Given the description of an element on the screen output the (x, y) to click on. 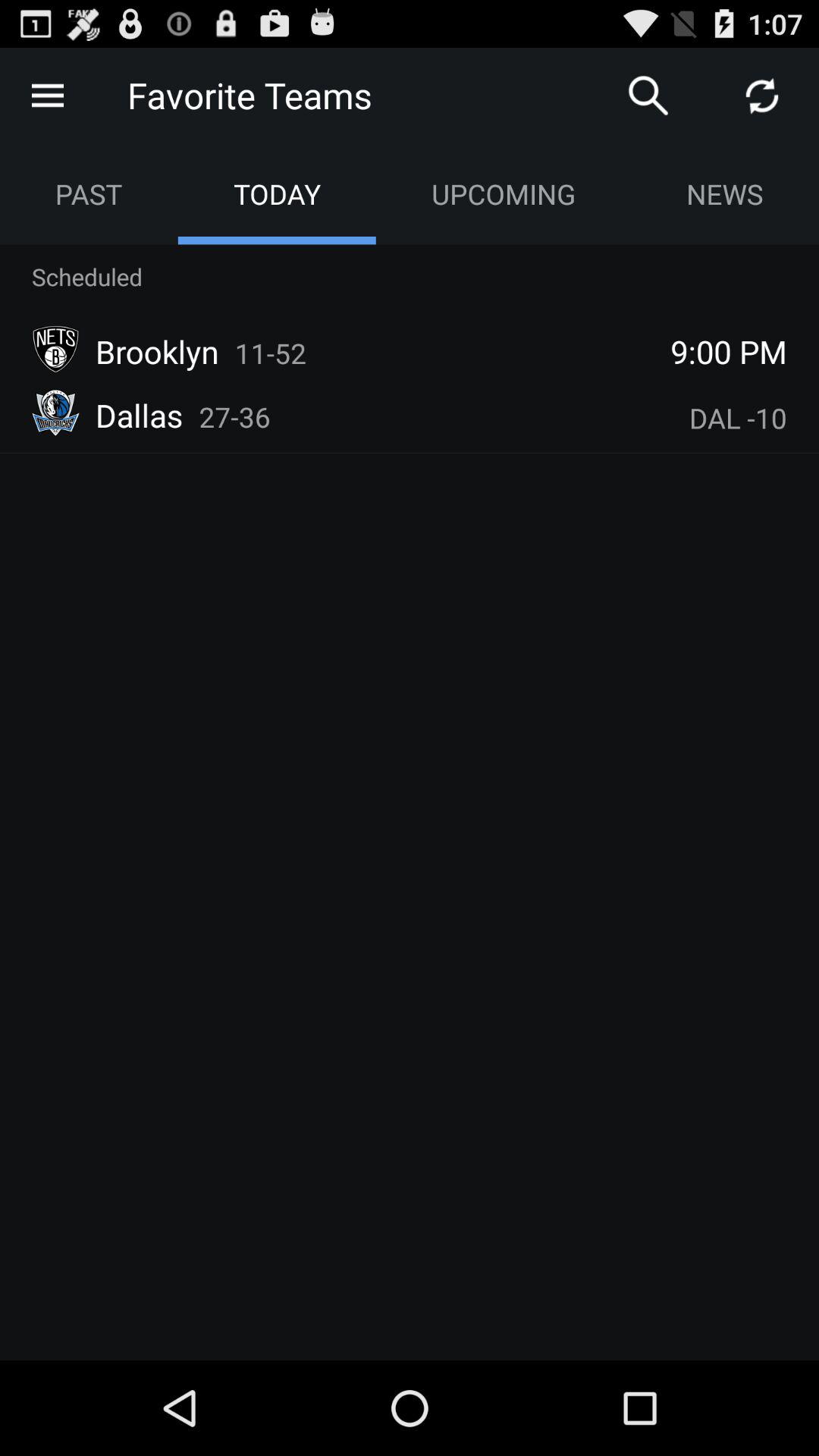
tap icon next to the brooklyn (270, 352)
